Given the description of an element on the screen output the (x, y) to click on. 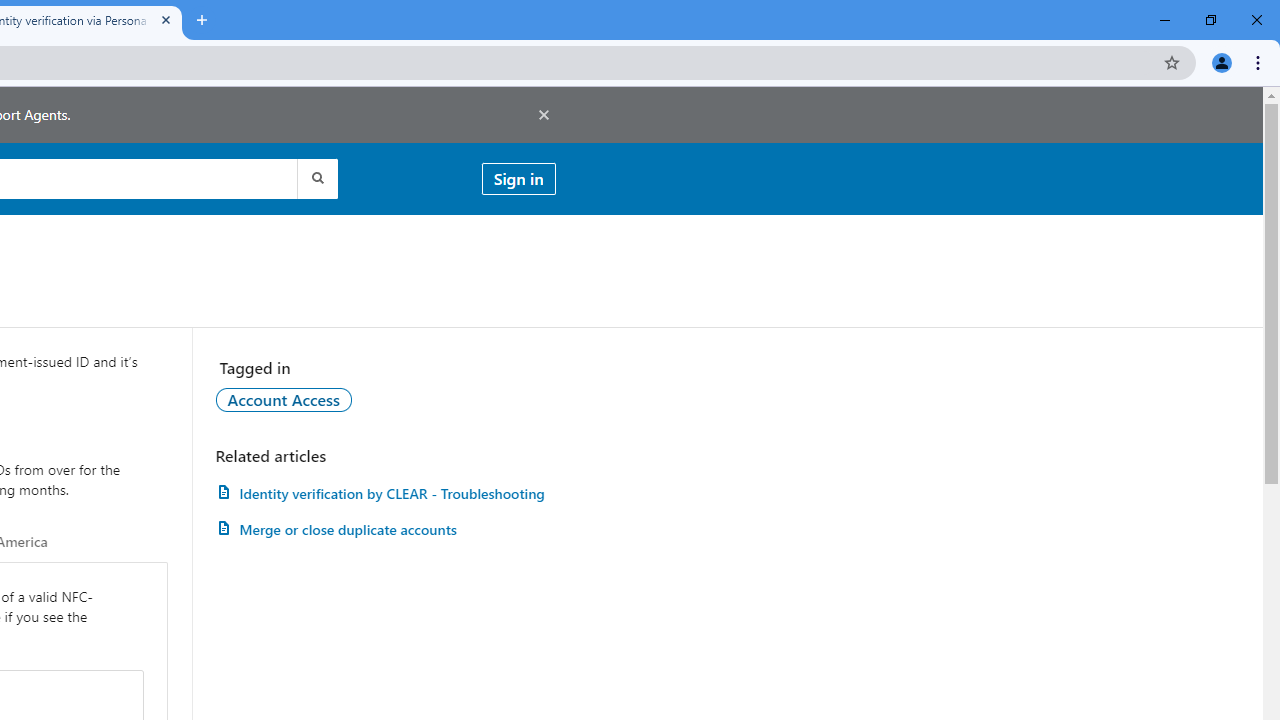
Identity verification by CLEAR - Troubleshooting (385, 493)
AutomationID: article-link-a1457505 (385, 493)
Merge or close duplicate accounts (385, 529)
AutomationID: topic-link-a151002 (283, 399)
Account Access (283, 399)
Submit search (316, 178)
